Given the description of an element on the screen output the (x, y) to click on. 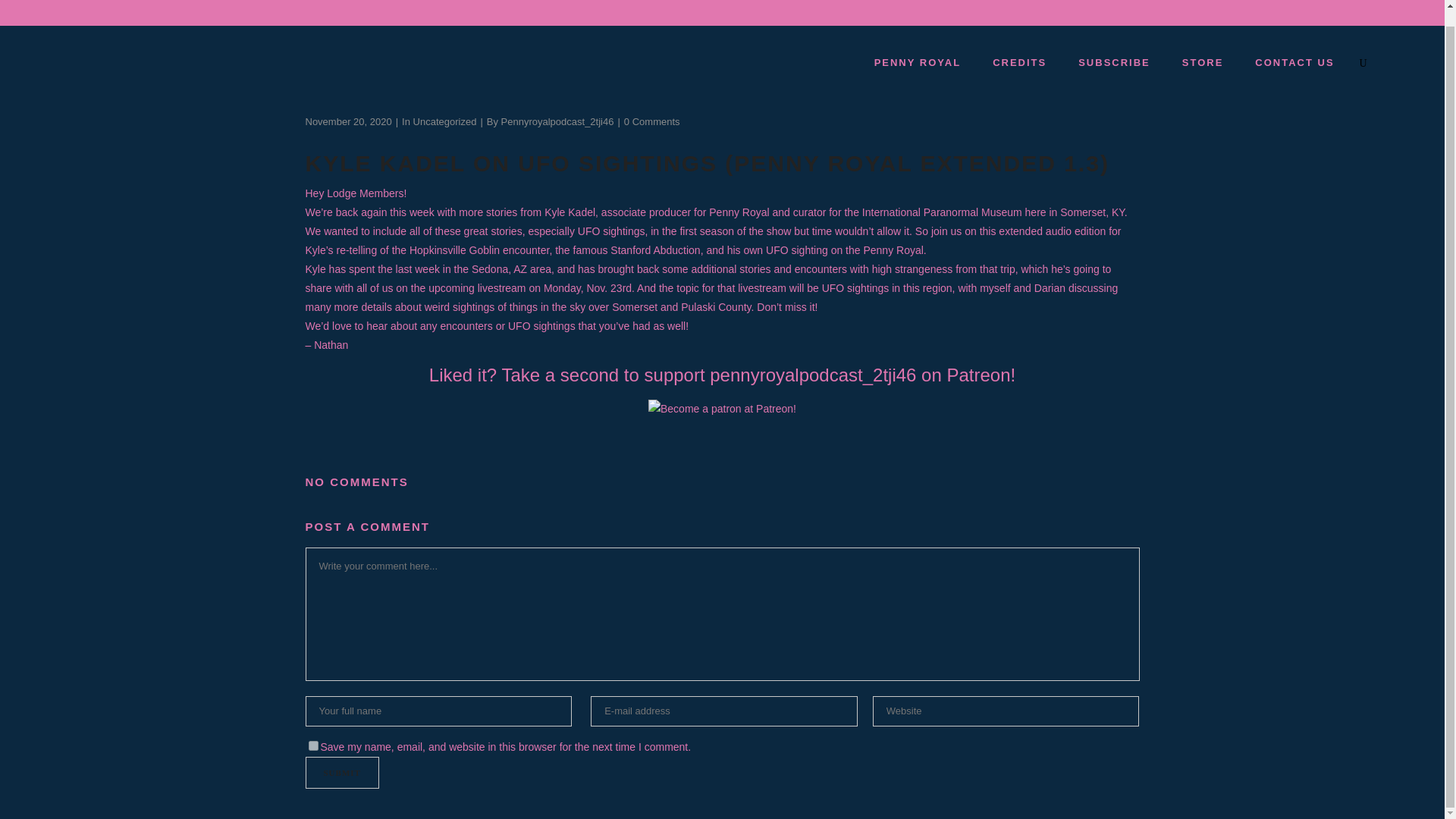
Uncategorized (445, 121)
U (998, 396)
PENNY ROYAL (917, 62)
0 Comments (651, 121)
SUBSCRIBE (1113, 62)
CONTACT US (1294, 62)
Submit (341, 772)
Submit (341, 772)
yes (312, 746)
